Given the description of an element on the screen output the (x, y) to click on. 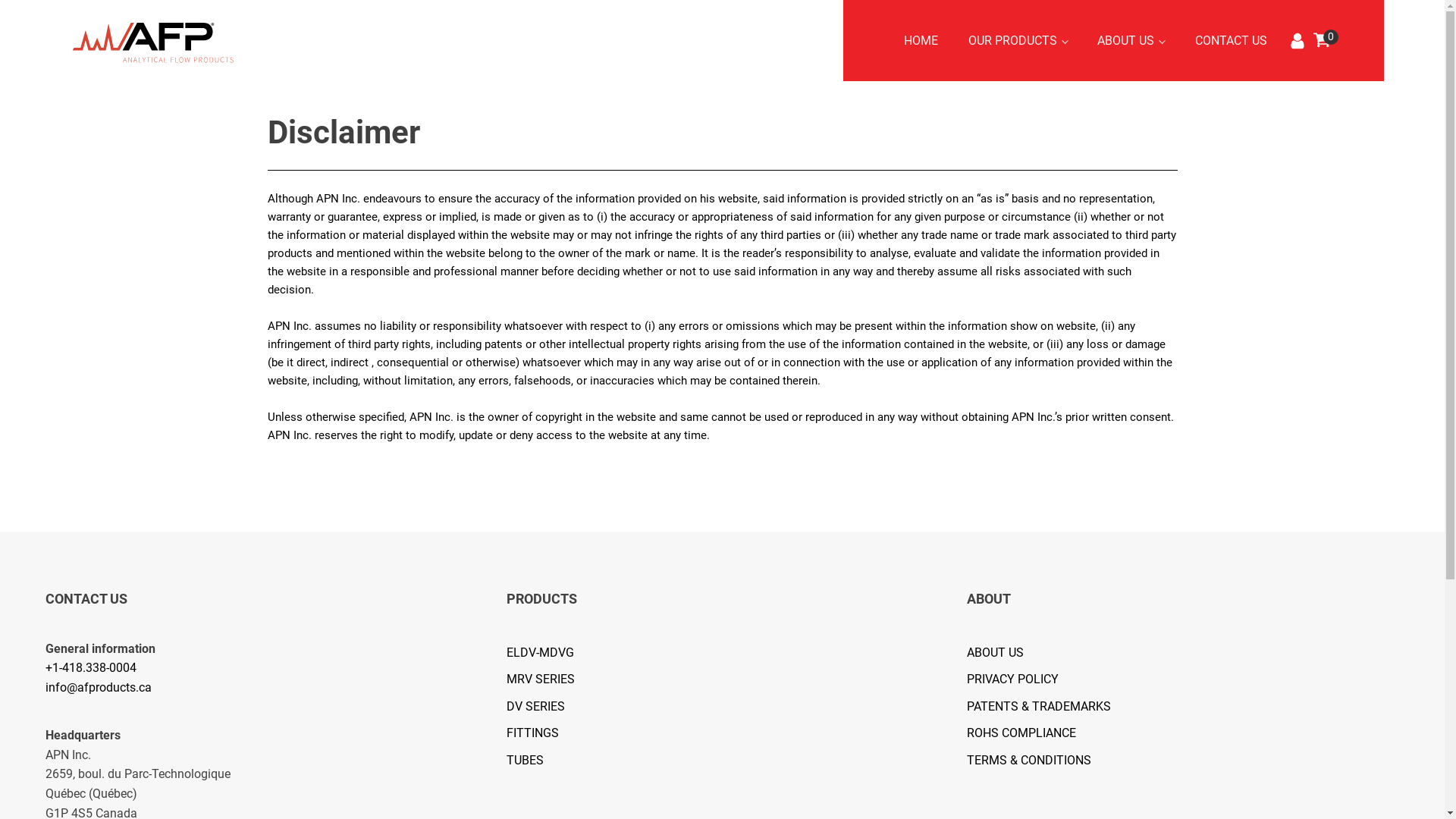
ABOUT US Element type: text (1046, 652)
info@afproducts.ca Element type: text (98, 687)
CONTACT US Element type: text (1230, 40)
HOME Element type: text (920, 40)
PRIVACY POLICY Element type: text (1046, 679)
ROHS COMPLIANCE Element type: text (1046, 732)
TUBES Element type: text (547, 760)
FITTINGS Element type: text (547, 732)
ELDV-MDVG Element type: text (547, 652)
+1-418.338-0004 Element type: text (90, 667)
TERMS & CONDITIONS Element type: text (1046, 760)
MRV SERIES Element type: text (547, 679)
OUR PRODUCTS Element type: text (1017, 40)
ABOUT US Element type: text (1130, 40)
PATENTS & TRADEMARKS Element type: text (1046, 706)
DV SERIES Element type: text (547, 706)
